Given the description of an element on the screen output the (x, y) to click on. 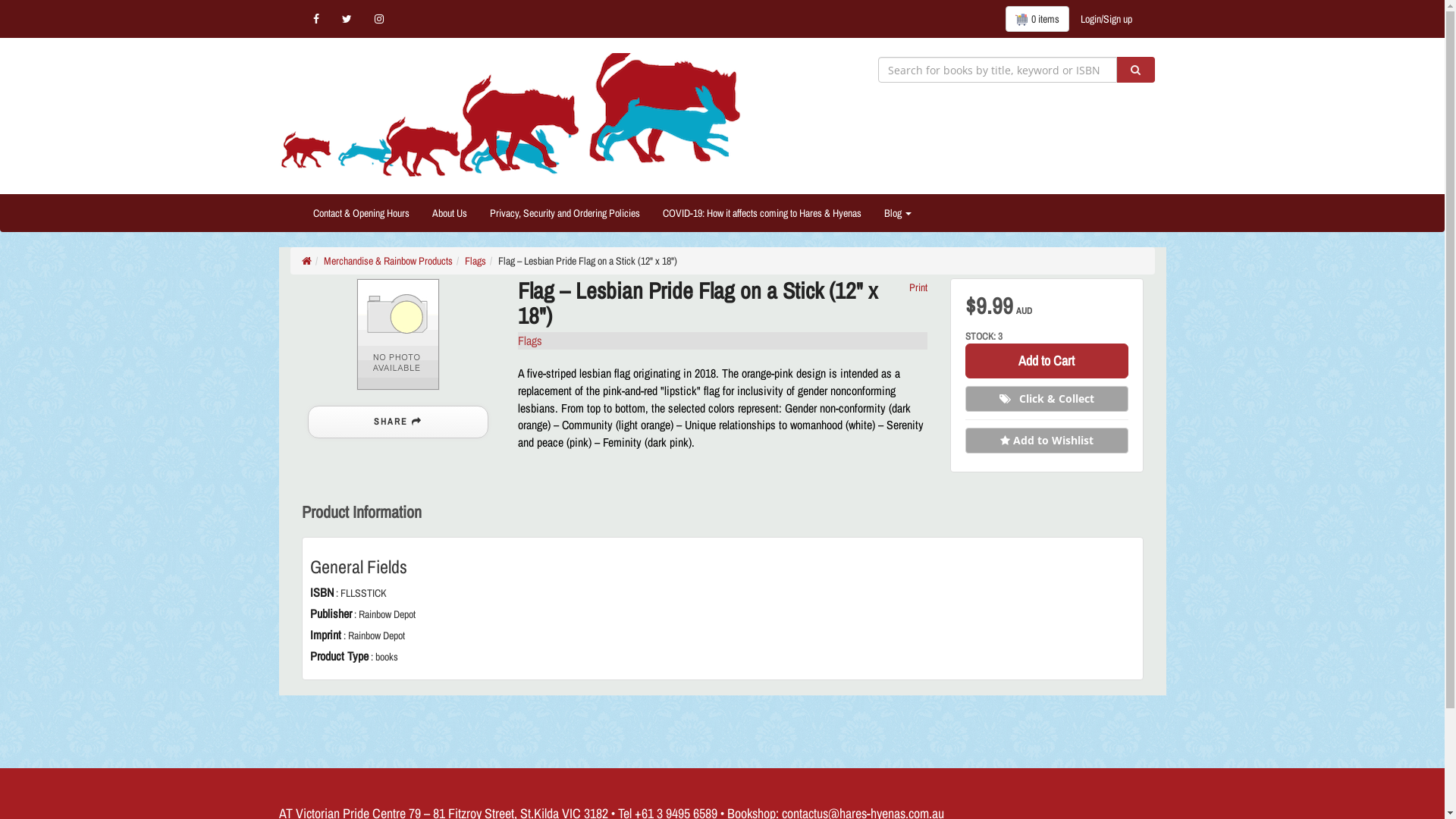
Add to Wishlist Element type: text (1045, 440)
COVID-19: How it affects coming to Hares & Hyenas Element type: text (761, 213)
0 items Element type: text (1037, 18)
 Print Element type: text (916, 287)
Privacy, Security and Ordering Policies Element type: text (563, 213)
SHARE Element type: text (397, 421)
About Us Element type: text (448, 213)
Flags Element type: text (529, 340)
Click & Collect Element type: text (1045, 398)
Merchandise & Rainbow Products Element type: text (387, 260)
Blog  Element type: text (897, 213)
Flags Element type: text (474, 260)
Contact & Opening Hours Element type: text (360, 213)
Add to Cart Element type: text (1045, 360)
Login/Sign up Element type: text (1106, 18)
0 items Element type: text (1037, 18)
